Given the description of an element on the screen output the (x, y) to click on. 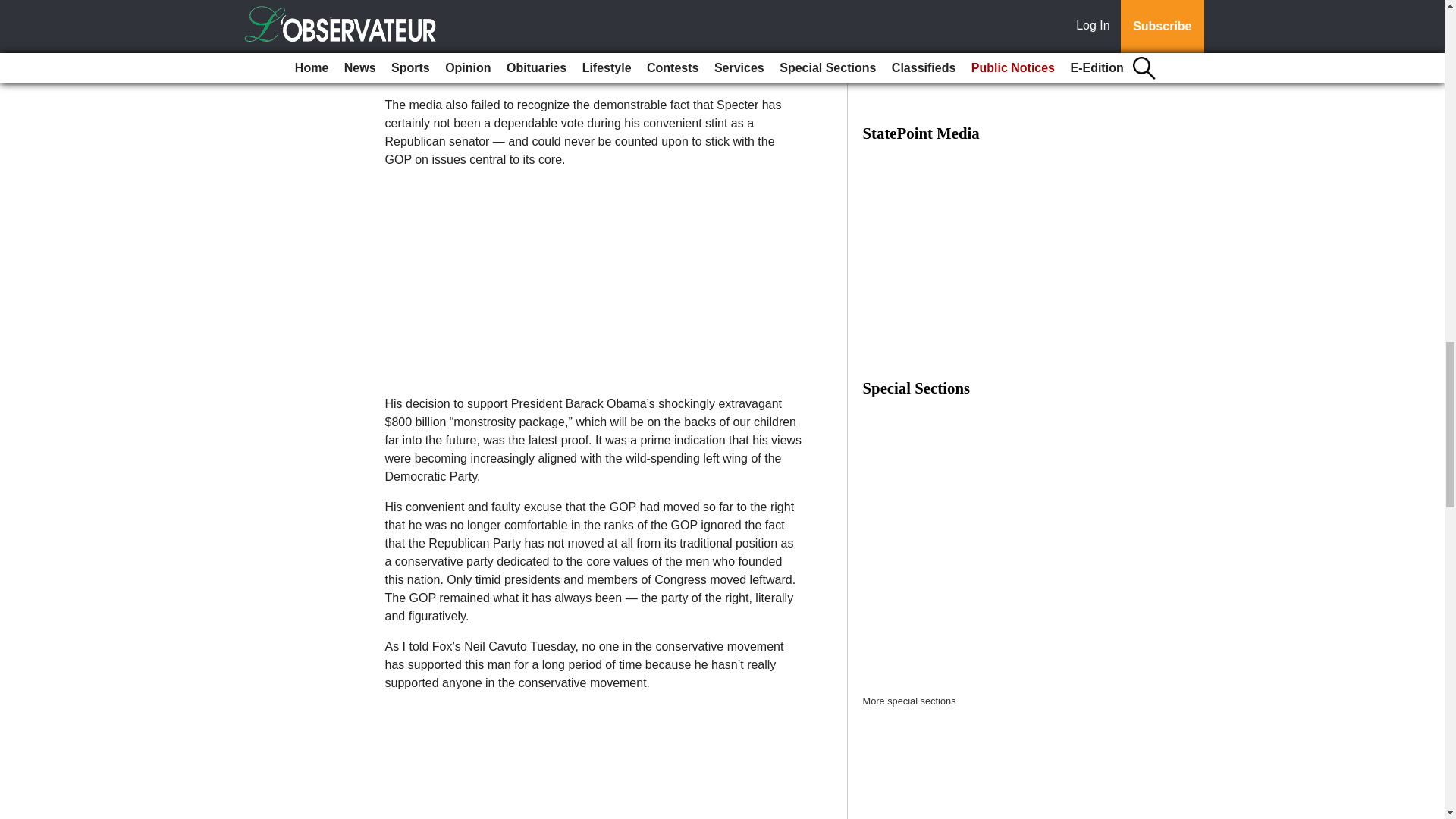
More special sections (909, 700)
